Given the description of an element on the screen output the (x, y) to click on. 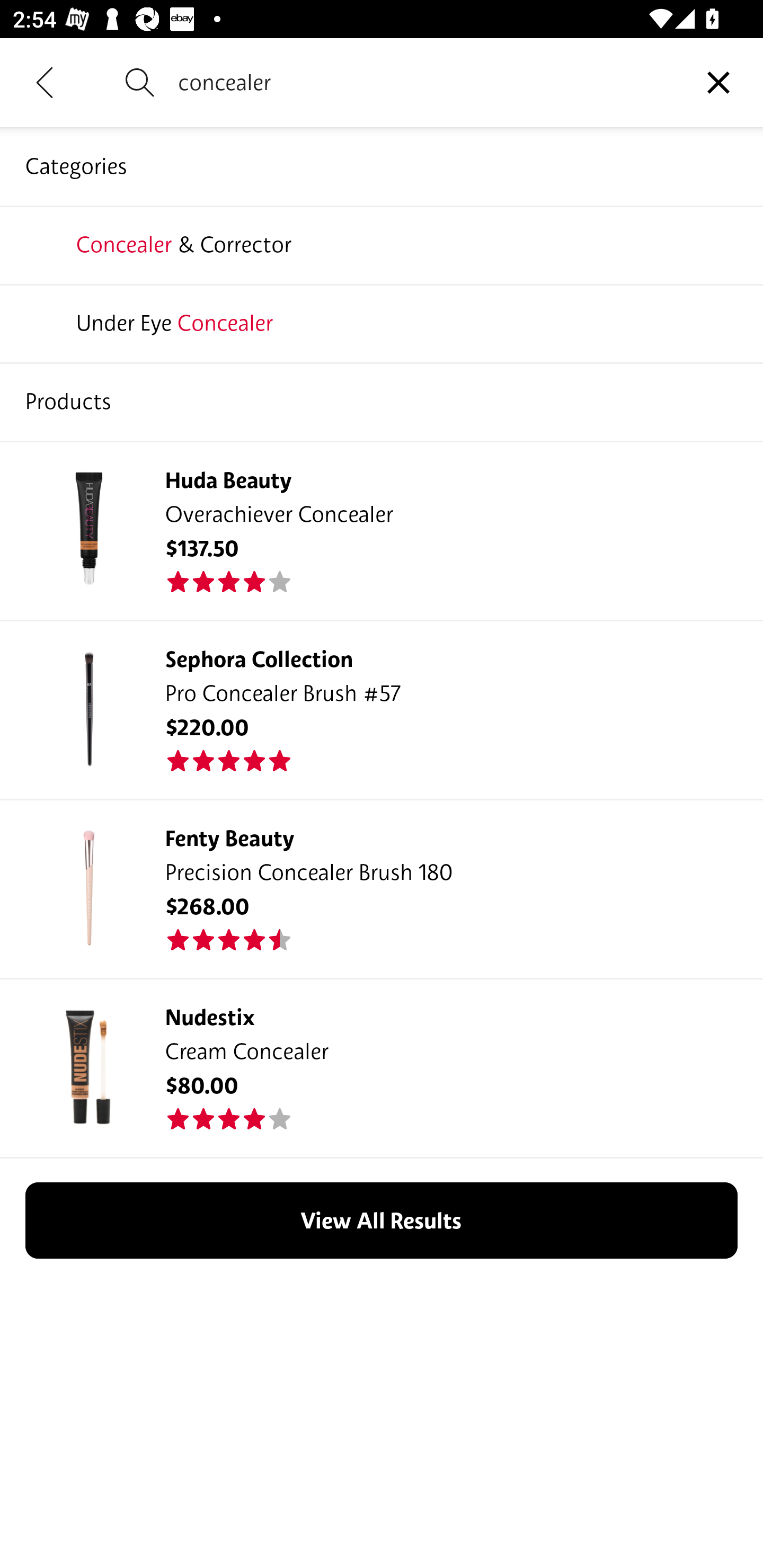
Navigate up (44, 82)
Clear query (718, 81)
concealer (425, 82)
rare beauty (381, 244)
the ordinary (381, 322)
supergoop! (381, 401)
Product Image Nudestix Cream Concealer $80.00 (381, 1067)
View All Results (381, 1220)
